Given the description of an element on the screen output the (x, y) to click on. 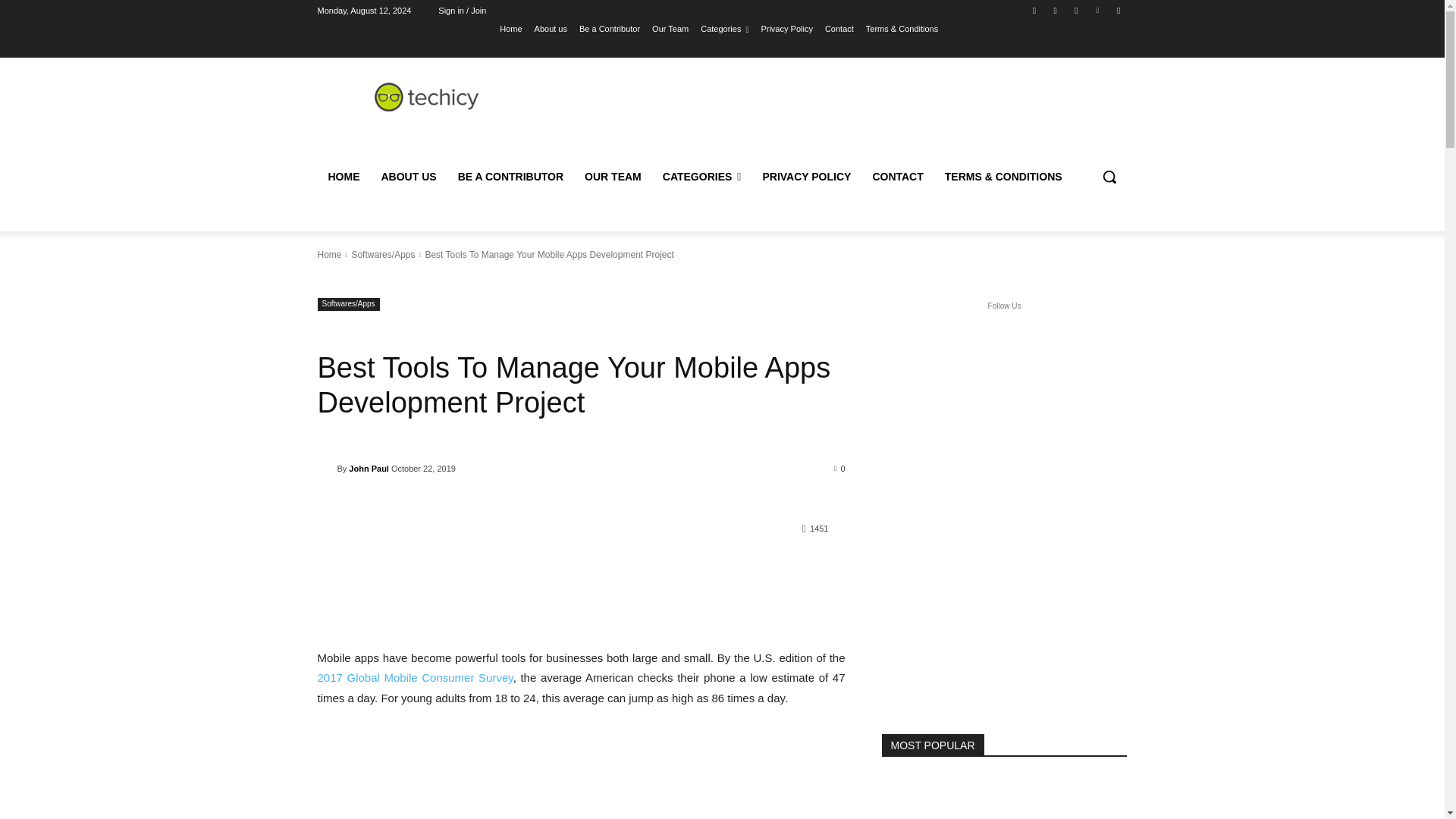
Be a Contributor (609, 28)
About us (550, 28)
Privacy Policy (786, 28)
Home (510, 28)
Contact (839, 28)
John Paul (326, 468)
Categories (724, 28)
Our Team (670, 28)
Instagram (1055, 9)
Twitter (1075, 9)
